Given the description of an element on the screen output the (x, y) to click on. 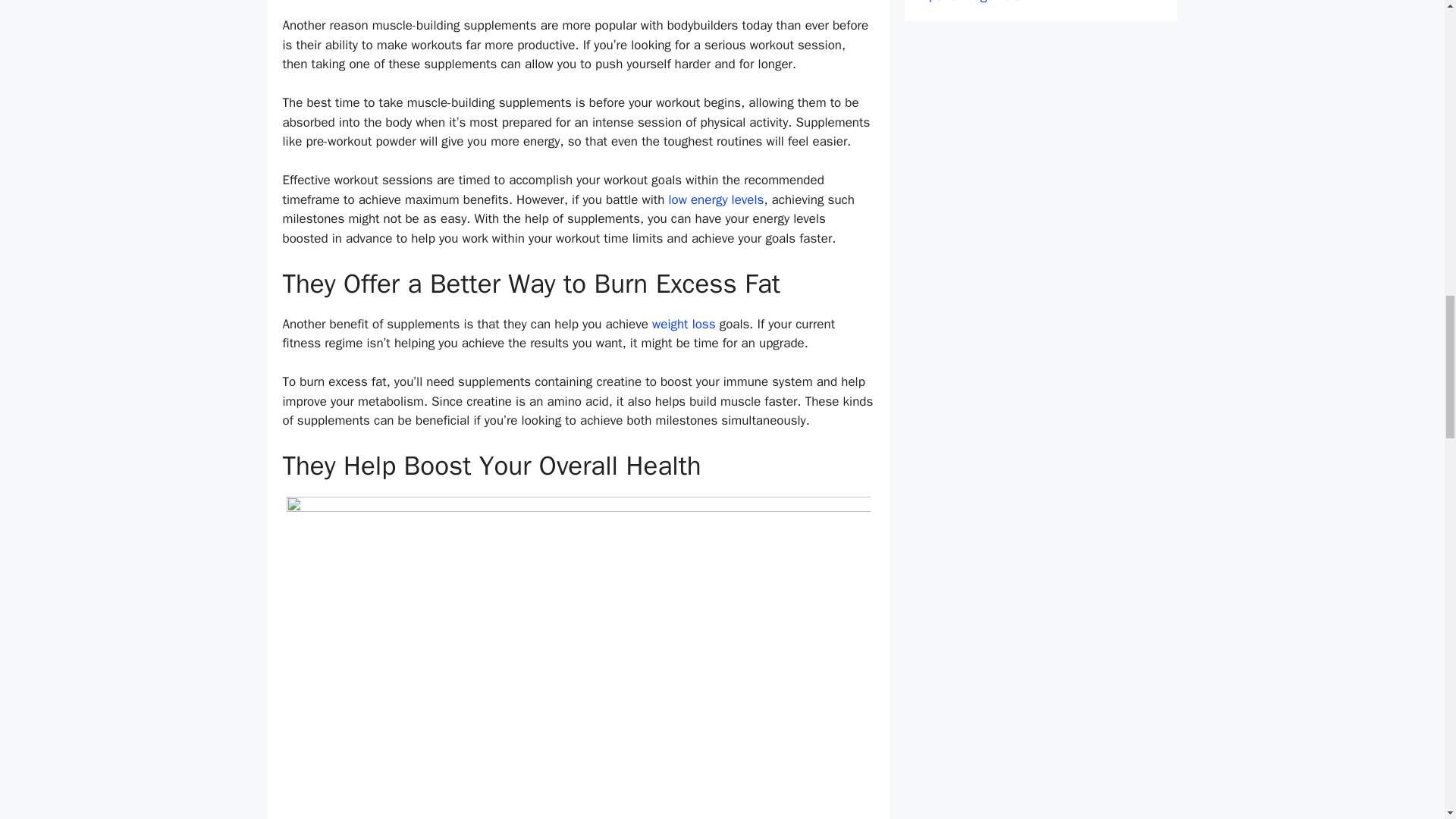
weight loss (684, 324)
low energy levels (715, 199)
